Given the description of an element on the screen output the (x, y) to click on. 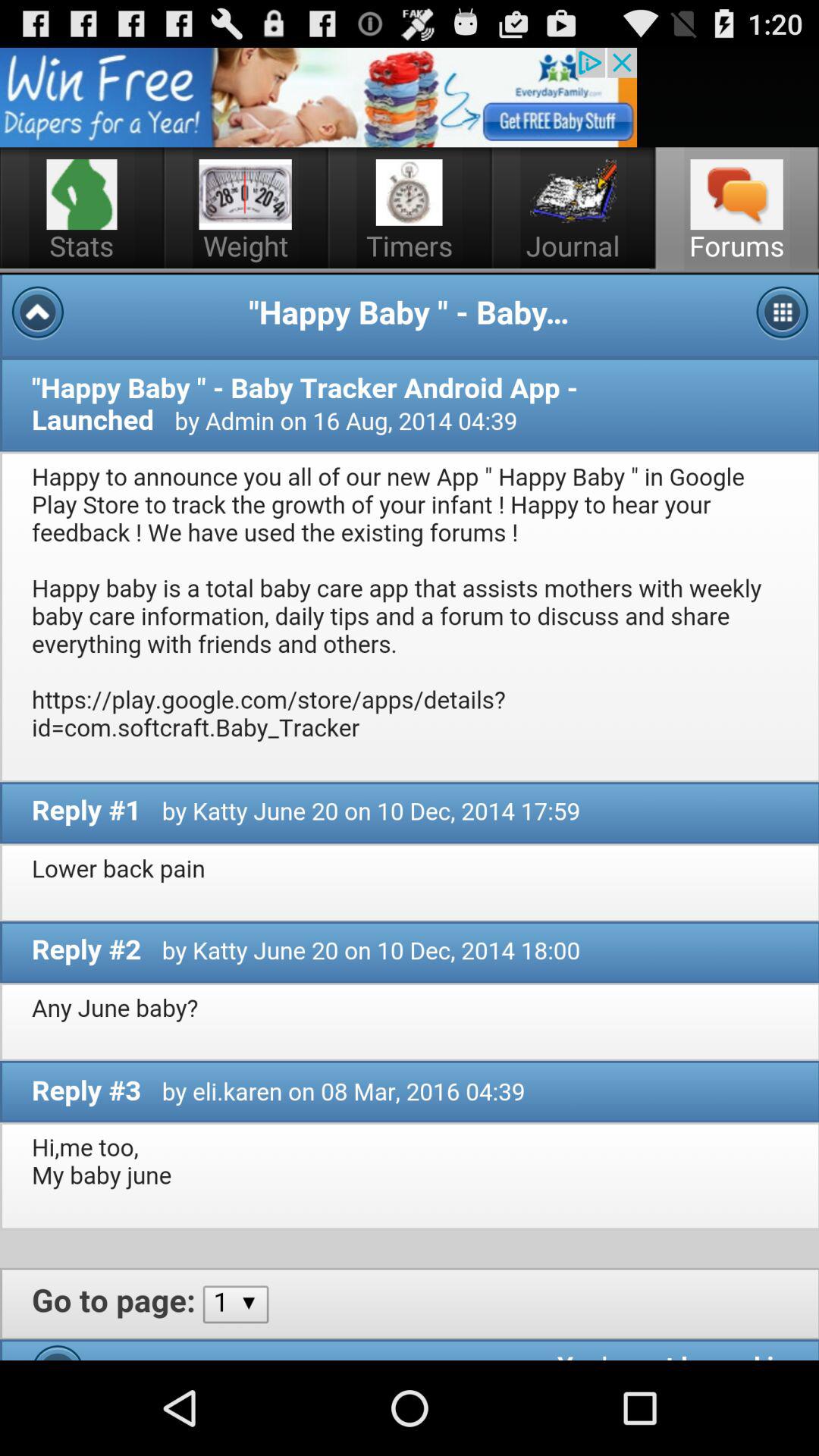
share article (318, 97)
